Given the description of an element on the screen output the (x, y) to click on. 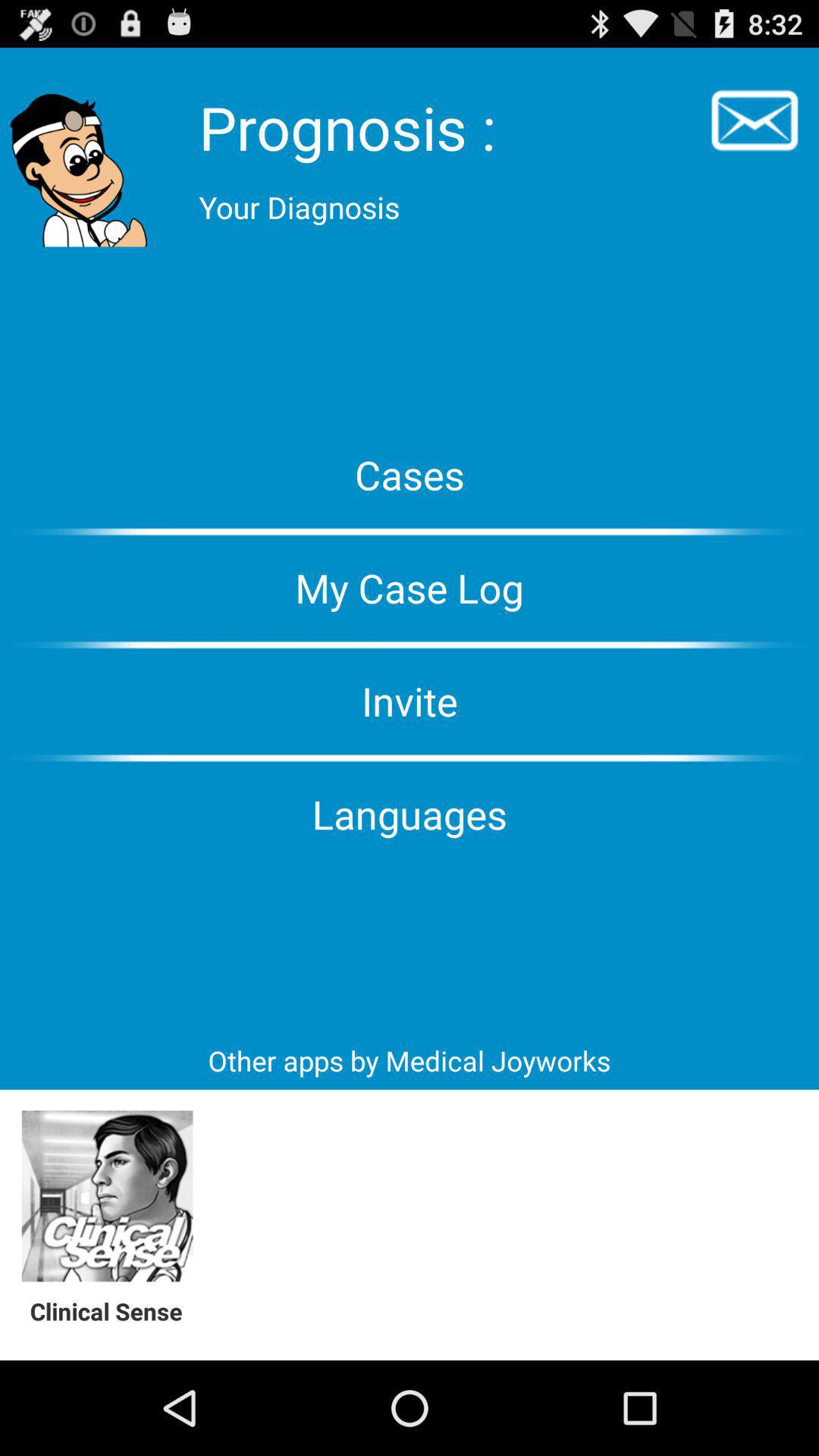
tap app below the other apps by (107, 1196)
